Given the description of an element on the screen output the (x, y) to click on. 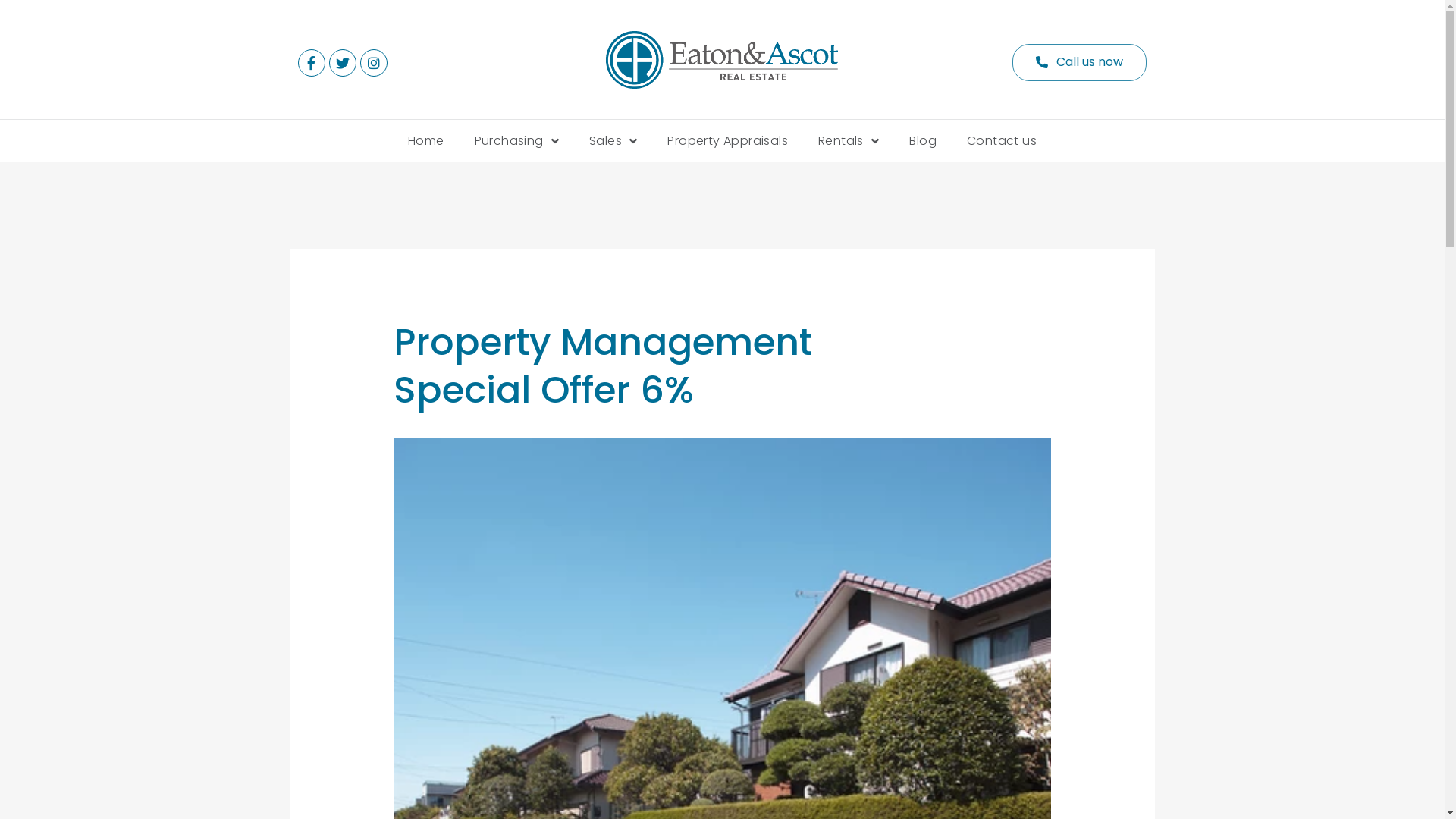
Property Appraisals Element type: text (727, 140)
Sales Element type: text (613, 140)
Purchasing Element type: text (516, 140)
Home Element type: text (425, 140)
Call us now Element type: text (1079, 62)
Contact us Element type: text (1001, 140)
Rentals Element type: text (848, 140)
Blog Element type: text (922, 140)
